Given the description of an element on the screen output the (x, y) to click on. 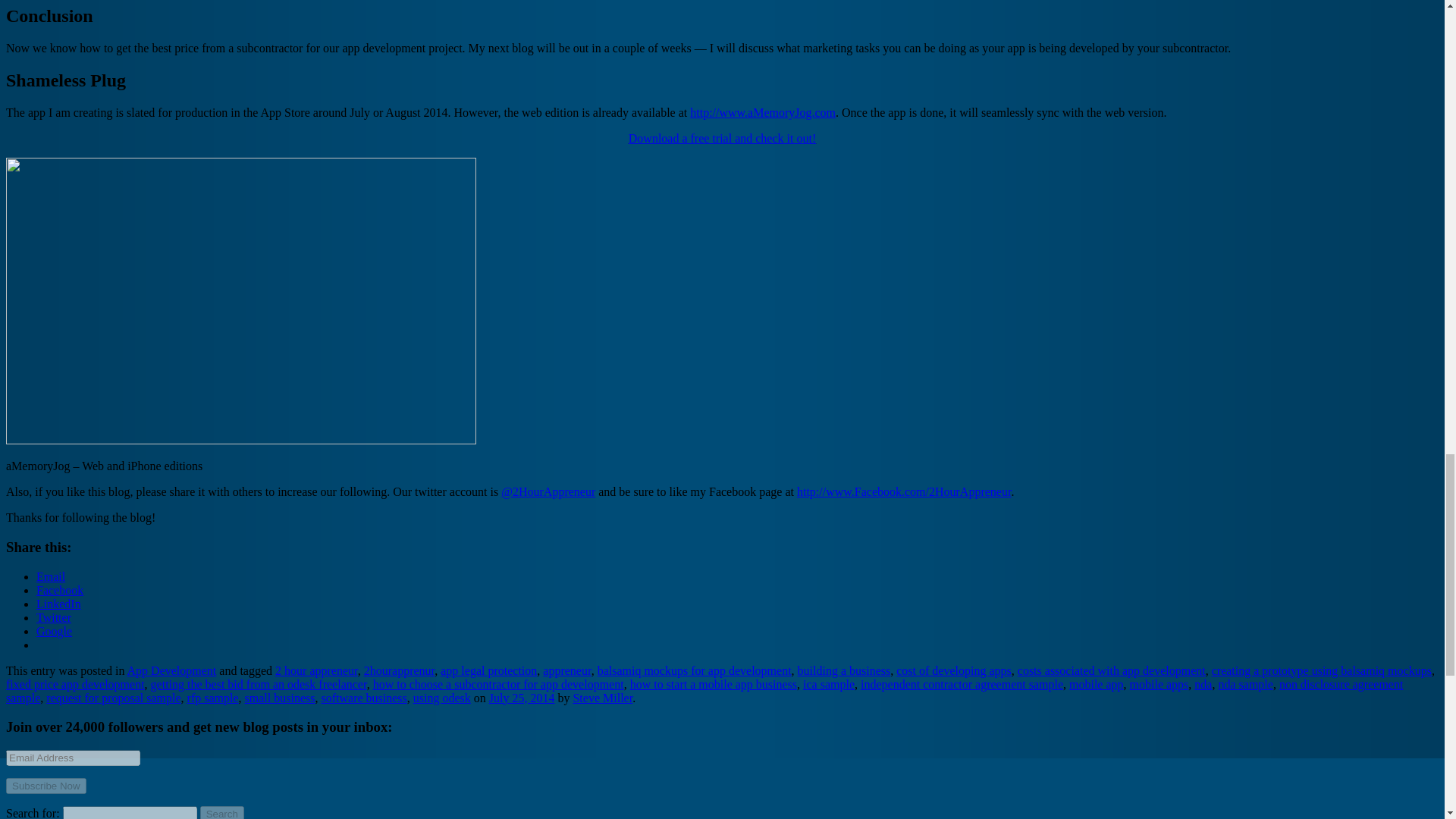
appreneur (567, 670)
Click to share on Twitter (53, 617)
View all posts by Steve Miller (601, 697)
Click to share on Facebook (59, 590)
Email (50, 576)
Download a free trial and check it out! (721, 137)
App Development (172, 670)
Twitter (53, 617)
Facebook (59, 590)
Download a free trial and check it out! (721, 137)
2hourapprenur (399, 670)
Click to share on LinkedIn (58, 603)
app legal protection (489, 670)
2 hour appreneur (316, 670)
LinkedIn (58, 603)
